Given the description of an element on the screen output the (x, y) to click on. 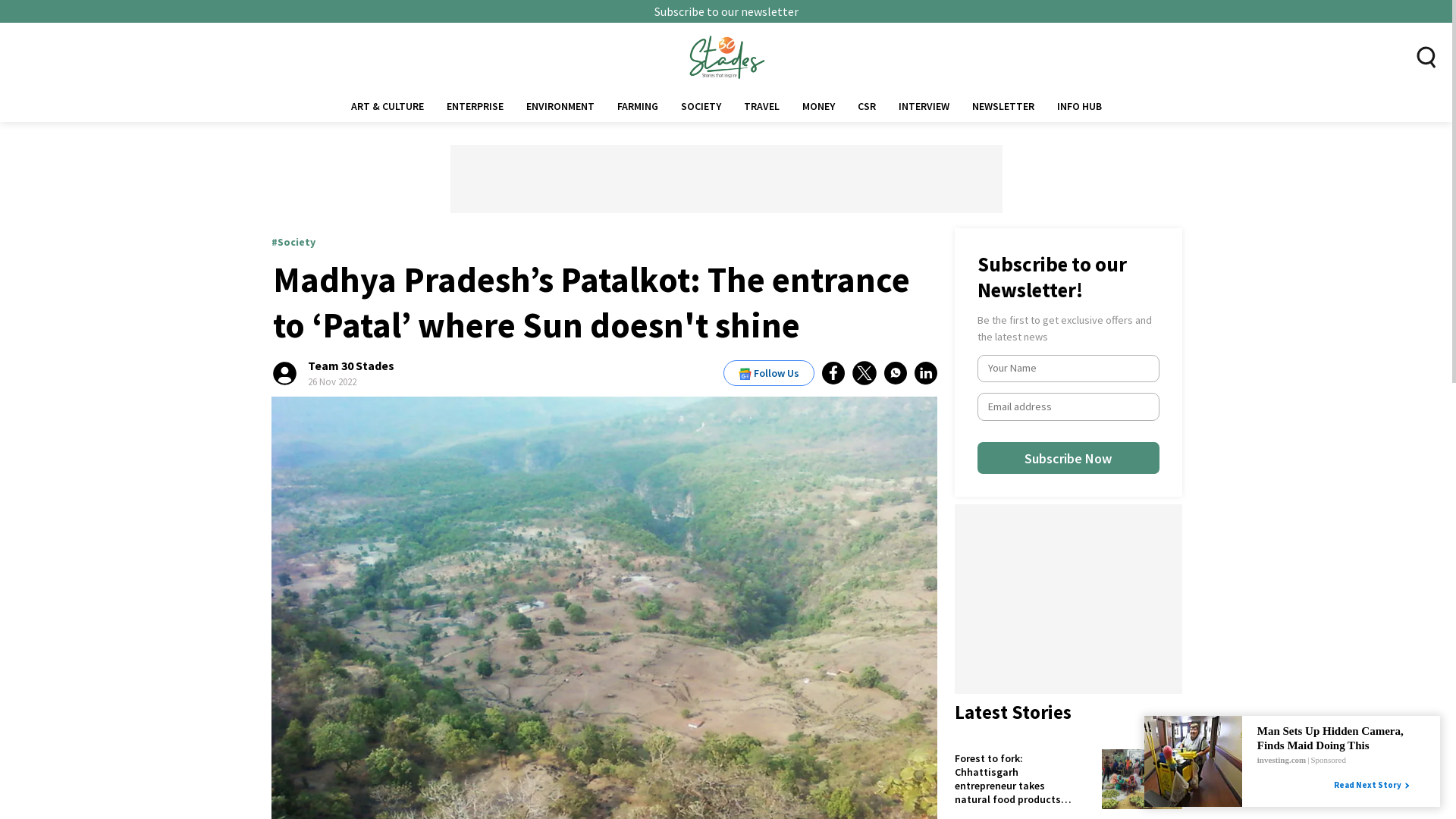
Unmute Element type: text (193, 797)
ENTERPRISE Element type: text (474, 106)
Sponsored Element type: text (1327, 759)
TRAVEL Element type: text (761, 106)
INTERVIEW Element type: text (923, 106)
SOCIETY Element type: text (699, 106)
FARMING Element type: text (636, 106)
ART & CULTURE Element type: text (387, 106)
Follow Us Element type: text (768, 372)
ENVIRONMENT Element type: text (559, 106)
Subscribe Now Element type: text (1186, 508)
Play Element type: text (151, 729)
INFO HUB Element type: text (1078, 106)
#Society Element type: text (293, 241)
Subscribe Element type: text (1370, 773)
MONEY Element type: text (817, 106)
Team 30 Stades Element type: text (350, 365)
NEWSLETTER Element type: text (1002, 106)
Fullscreen Element type: text (234, 797)
CSR Element type: text (866, 106)
Subscribe to our newsletter Element type: text (726, 11)
